Given the description of an element on the screen output the (x, y) to click on. 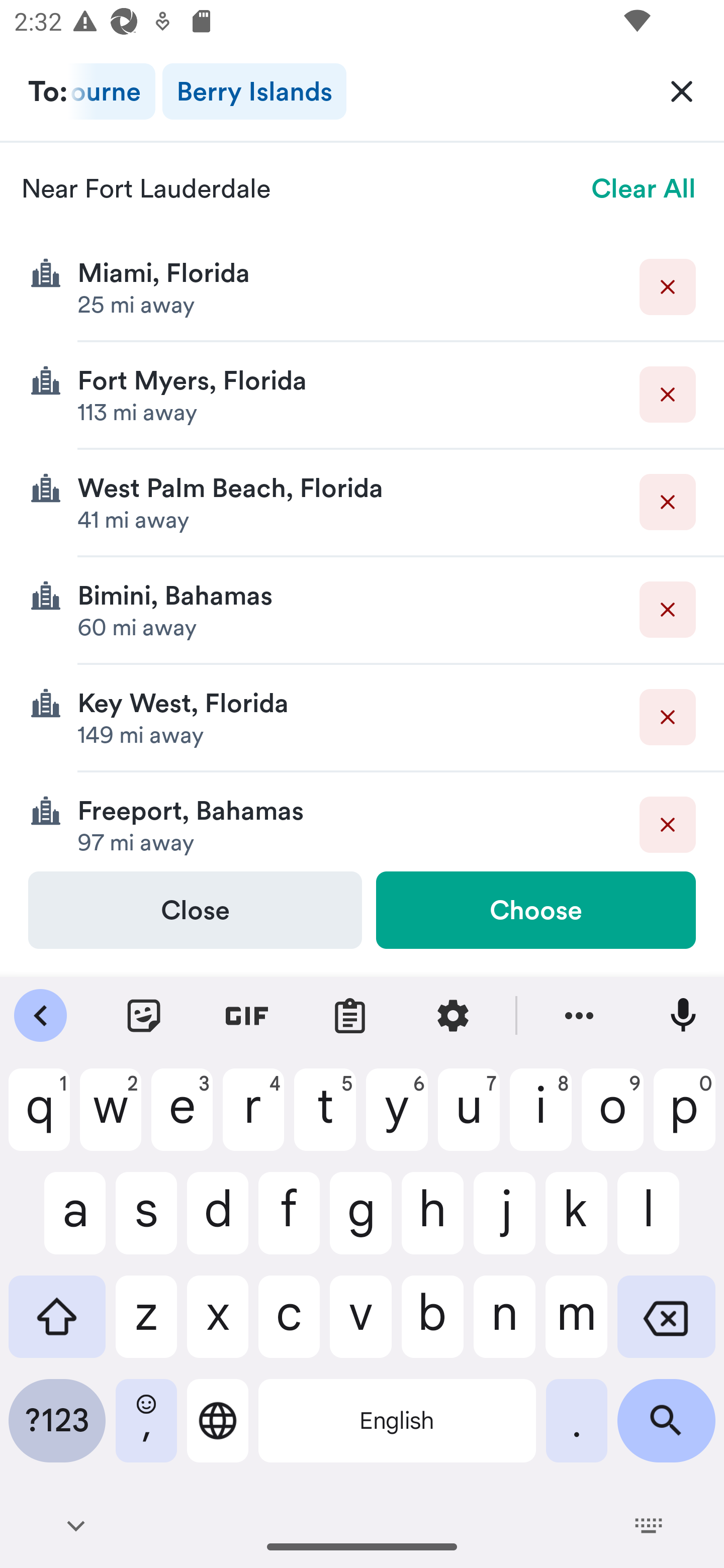
Clear All (681, 90)
Melbourne (111, 91)
Berry Islands (254, 91)
Clear All (643, 187)
Delete Miami, Florida 25 mi away (362, 287)
Delete (667, 286)
Delete Fort Myers, Florida 113 mi away (362, 395)
Delete (667, 394)
Delete West Palm Beach, Florida 41 mi away (362, 503)
Delete (667, 501)
Delete Bimini, Bahamas 60 mi away (362, 610)
Delete (667, 609)
Delete Key West, Florida 149 mi away (362, 717)
Delete (667, 716)
Delete Freeport, Bahamas 97 mi away (362, 821)
Delete (667, 824)
Close (195, 909)
Choose (535, 909)
